Given the description of an element on the screen output the (x, y) to click on. 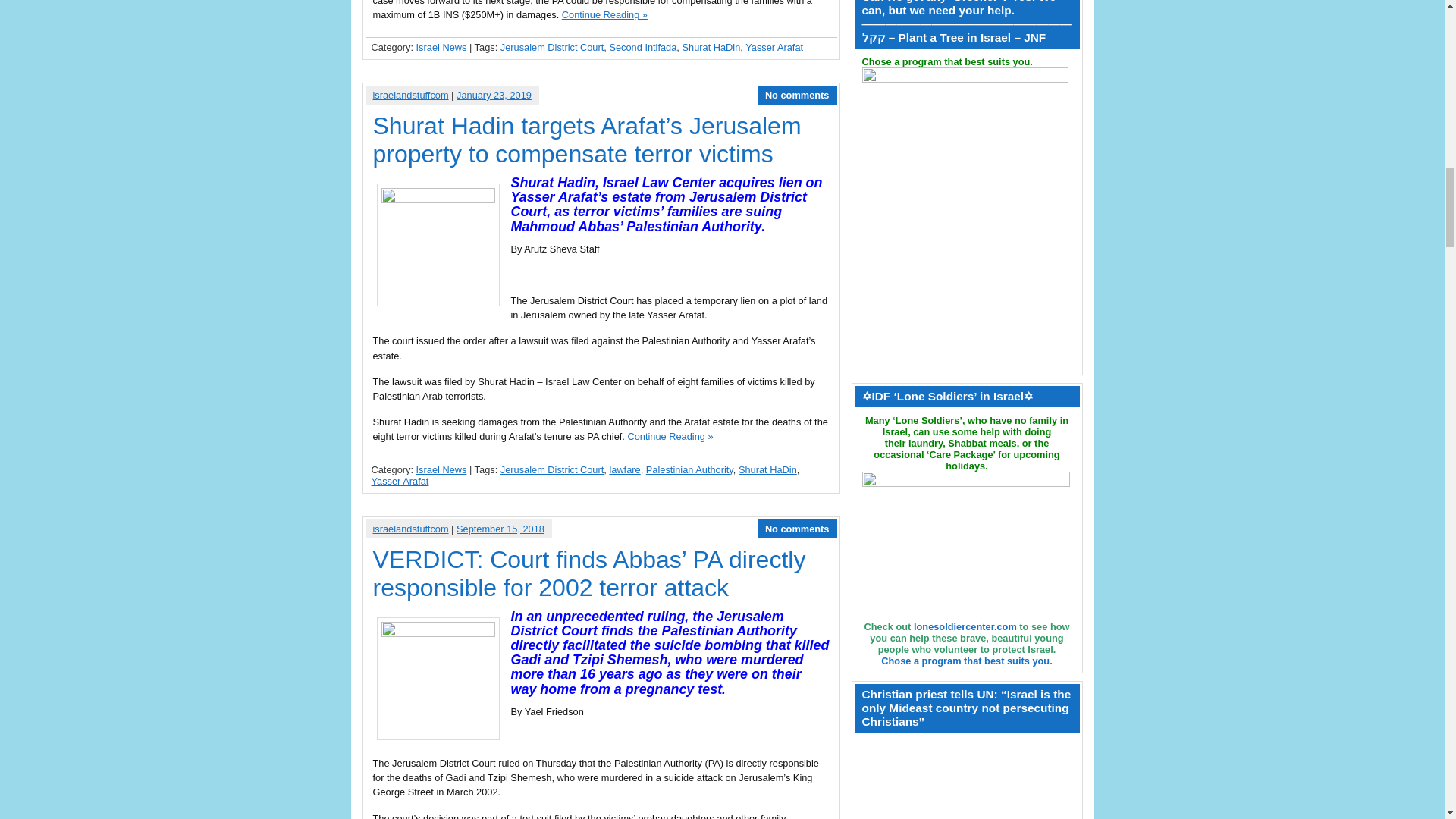
Posts by israelandstuffcom (410, 528)
Posts by israelandstuffcom (410, 94)
